Given the description of an element on the screen output the (x, y) to click on. 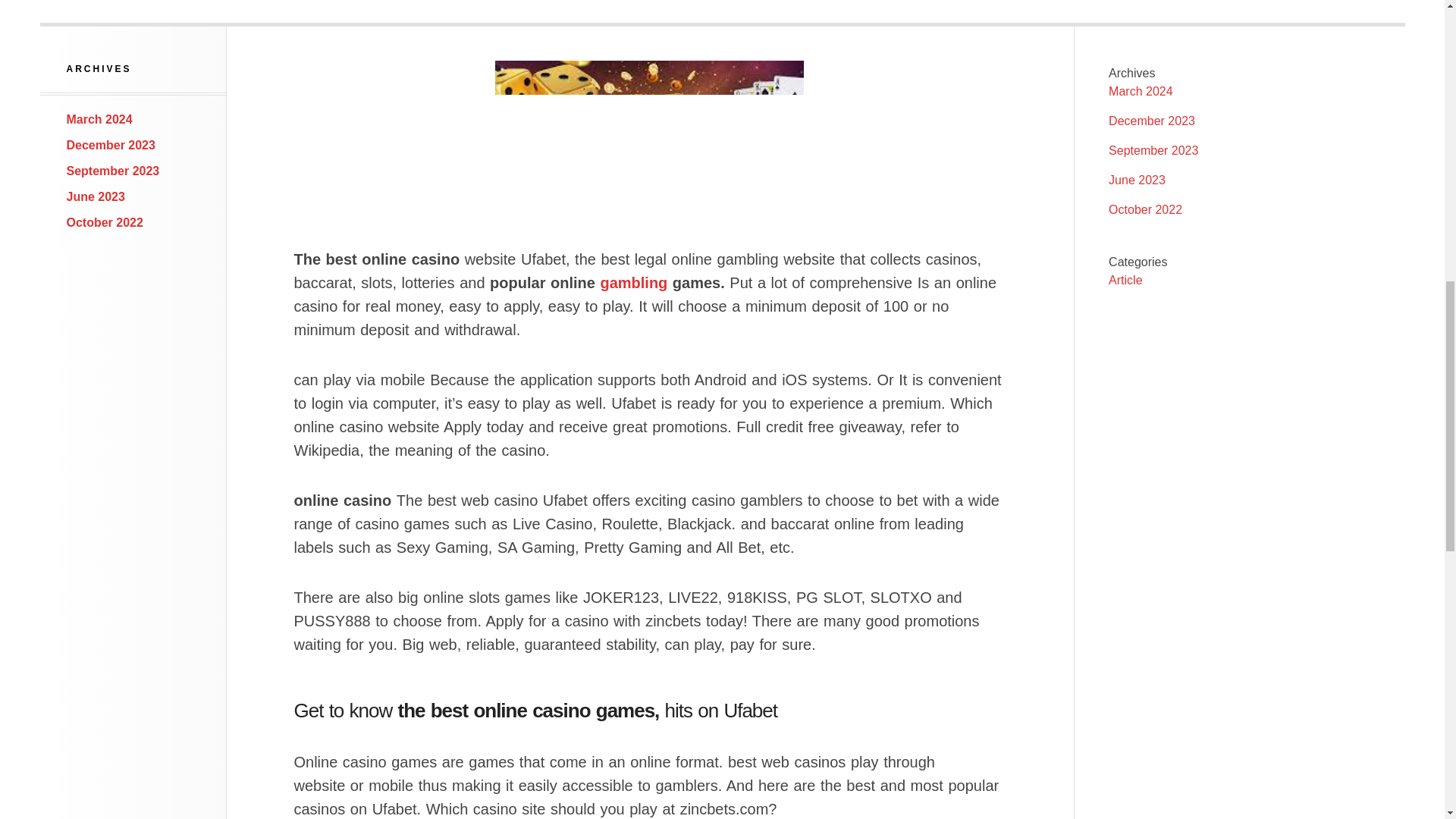
September 2023 (113, 170)
June 2023 (95, 196)
March 2024 (99, 119)
September 2023 (1153, 150)
June 2023 (1137, 179)
gambling (632, 282)
Article (1124, 279)
October 2022 (1145, 209)
December 2023 (1151, 120)
December 2023 (110, 144)
